Given the description of an element on the screen output the (x, y) to click on. 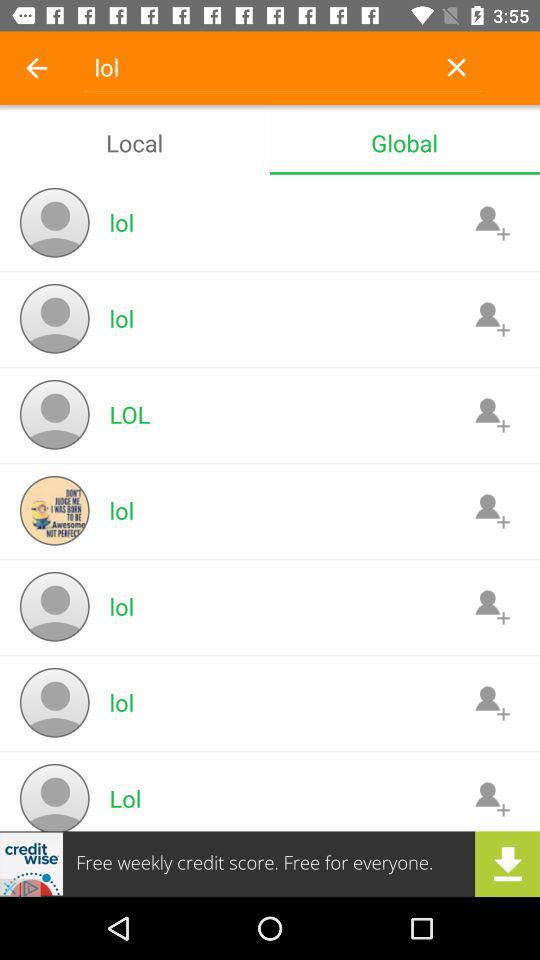
advertisement lol person (492, 510)
